Given the description of an element on the screen output the (x, y) to click on. 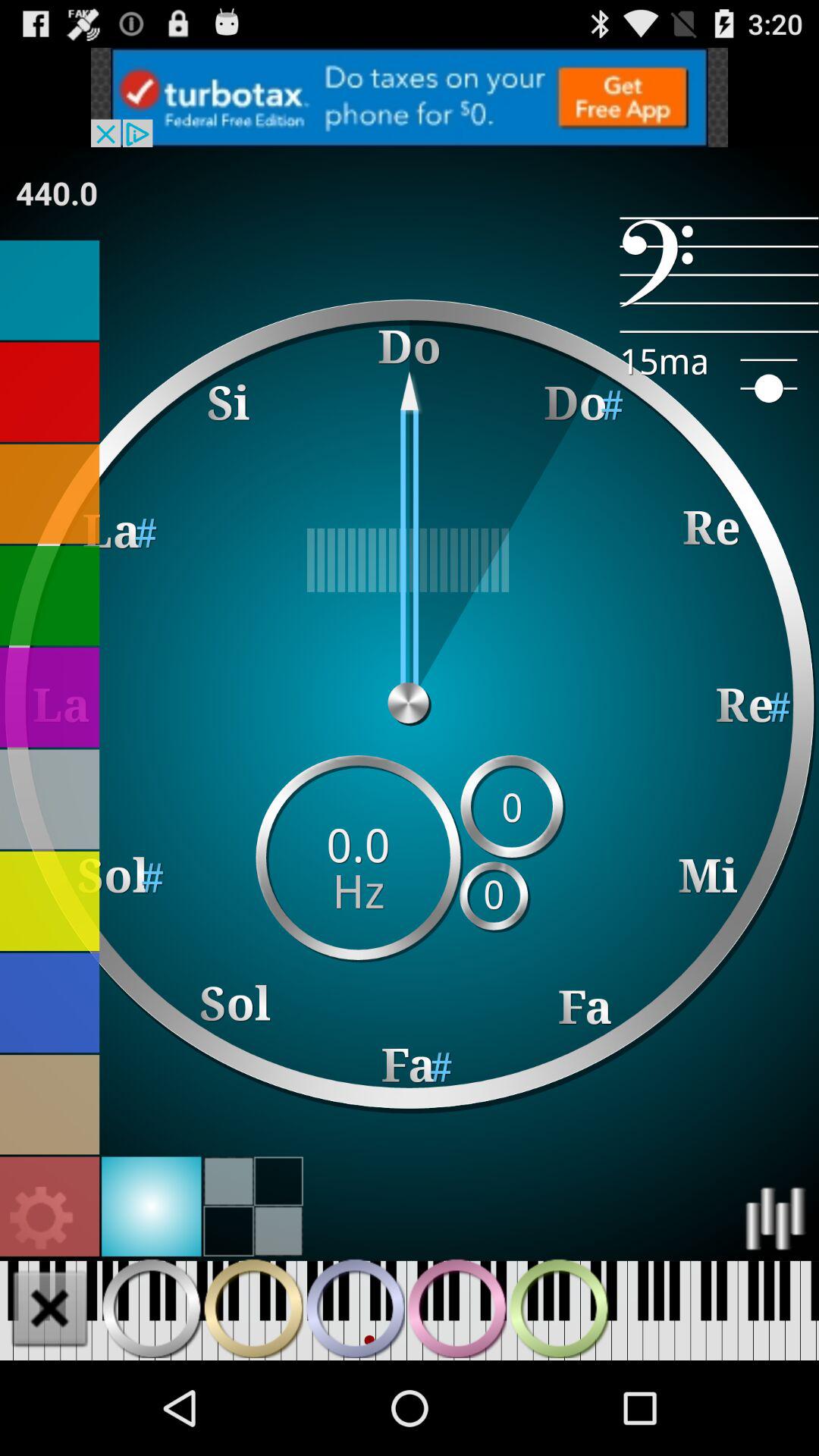
close (49, 1308)
